Given the description of an element on the screen output the (x, y) to click on. 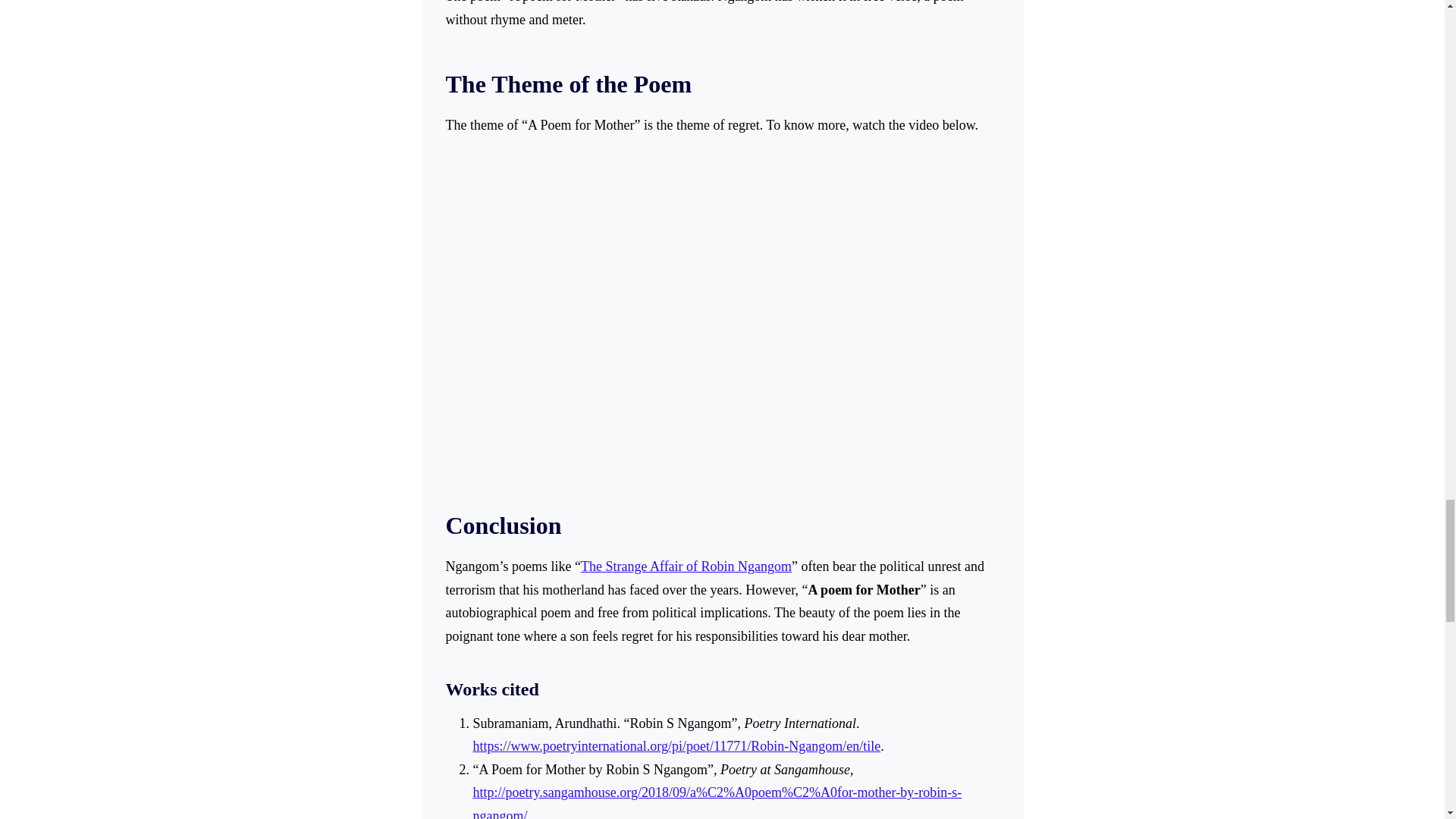
The Strange Affair of Robin Ngangom (686, 566)
